Given the description of an element on the screen output the (x, y) to click on. 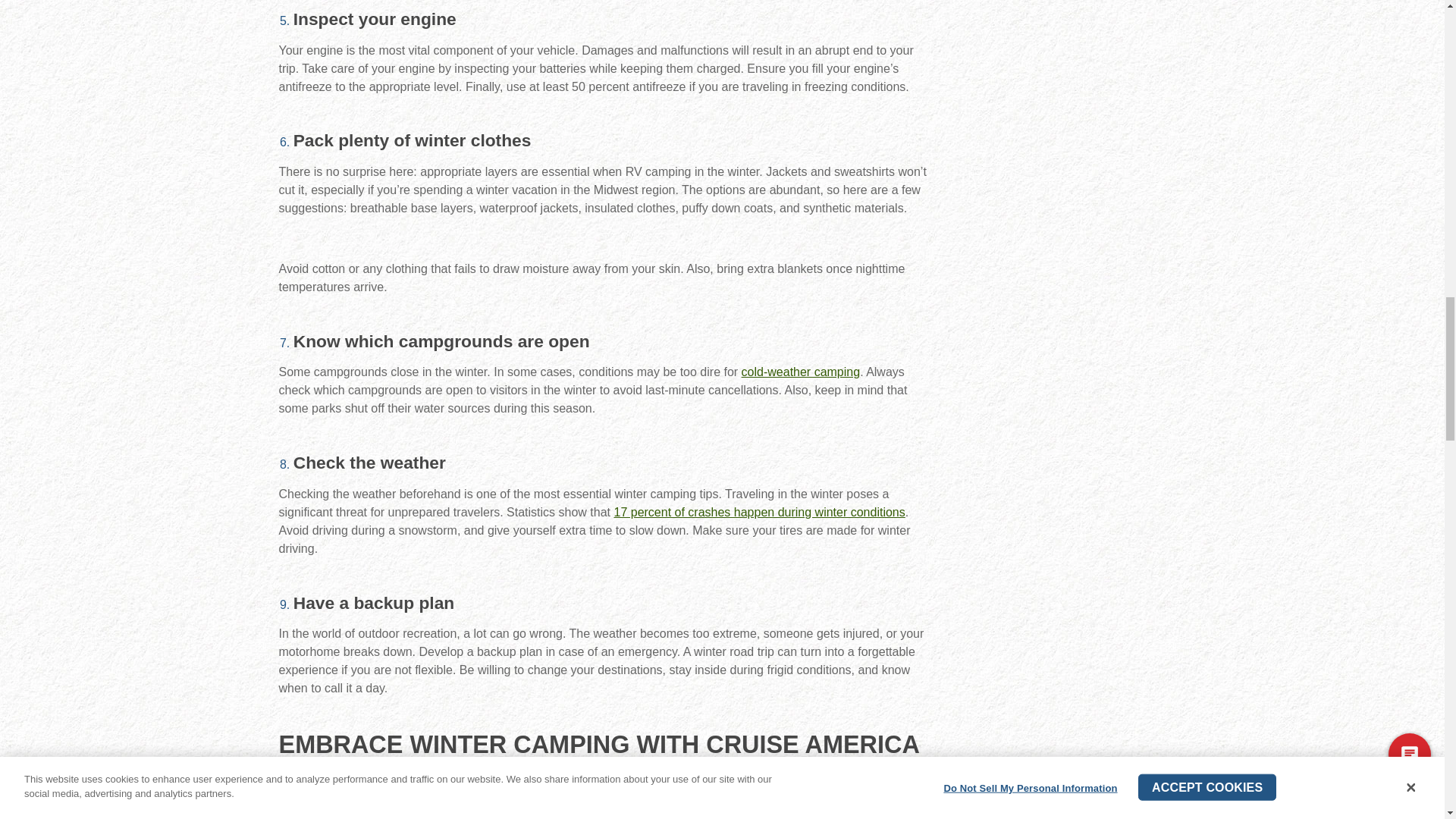
RV rentals (715, 797)
Cruise America (387, 797)
17 percent of crashes happen during winter conditions (759, 512)
cold-weather camping (800, 371)
